Given the description of an element on the screen output the (x, y) to click on. 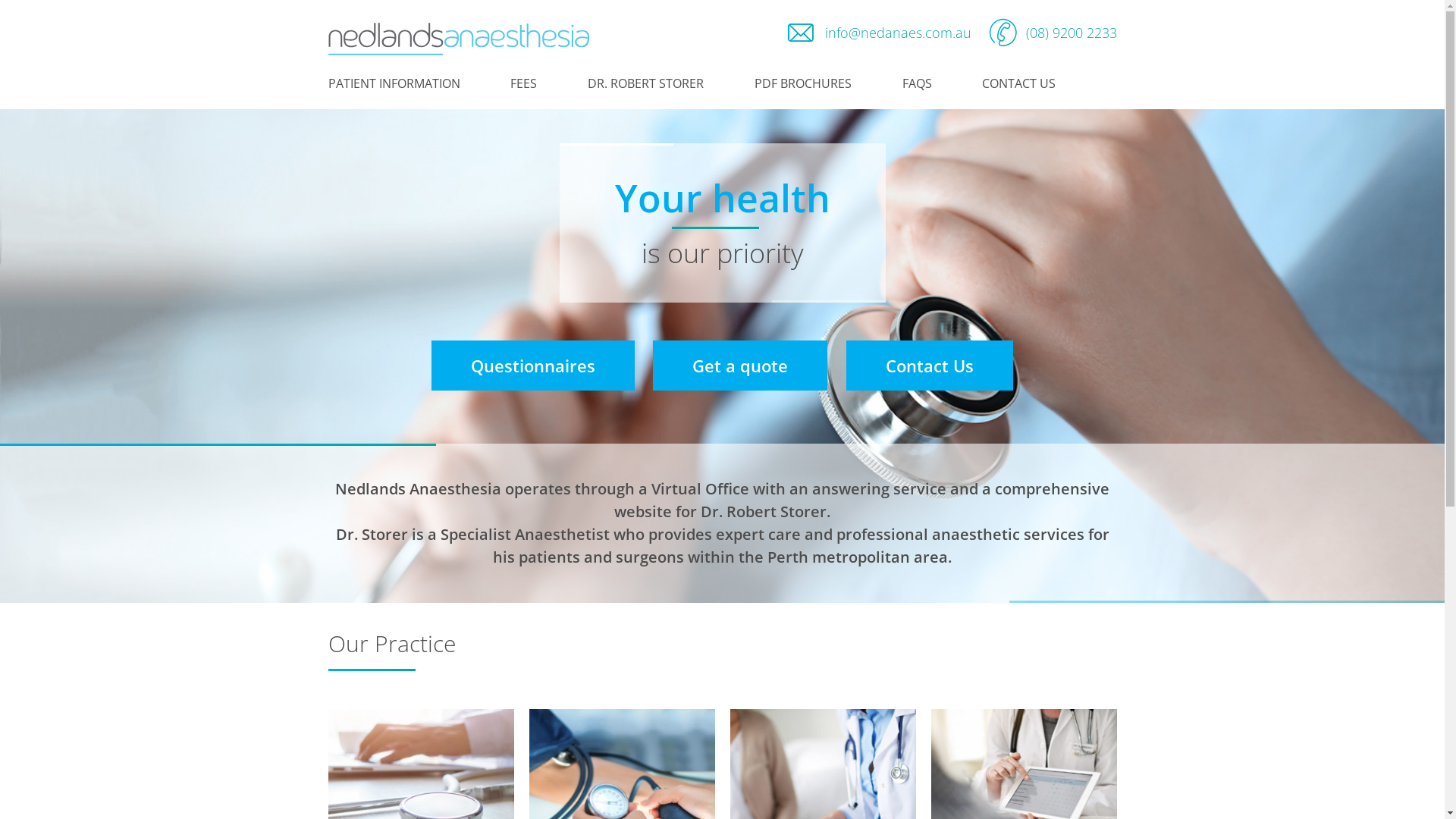
FAQS Element type: text (924, 83)
PATIENT INFORMATION Element type: text (400, 83)
CONTACT US Element type: text (1026, 83)
(08) 9200 2233 Element type: text (1050, 32)
DR. ROBERT STORER Element type: text (652, 83)
PDF BROCHURES Element type: text (810, 83)
FEES Element type: text (531, 83)
Contact Us Element type: text (929, 365)
info@nedanaes.com.au Element type: text (876, 32)
Get a quote Element type: text (739, 365)
Questionnaires Element type: text (532, 365)
